Given the description of an element on the screen output the (x, y) to click on. 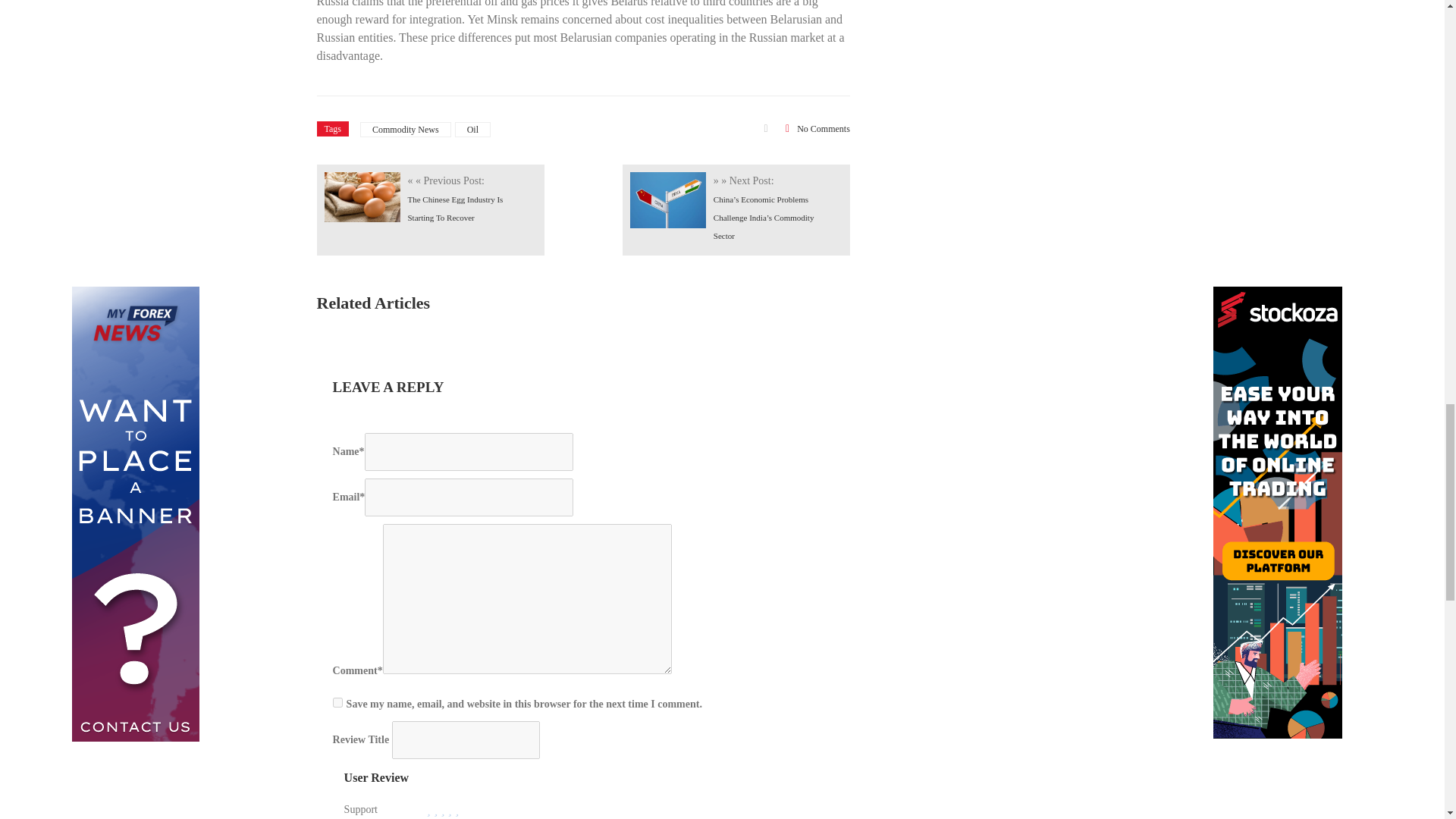
Oil (472, 129)
Commodity News (405, 129)
yes (337, 702)
